Given the description of an element on the screen output the (x, y) to click on. 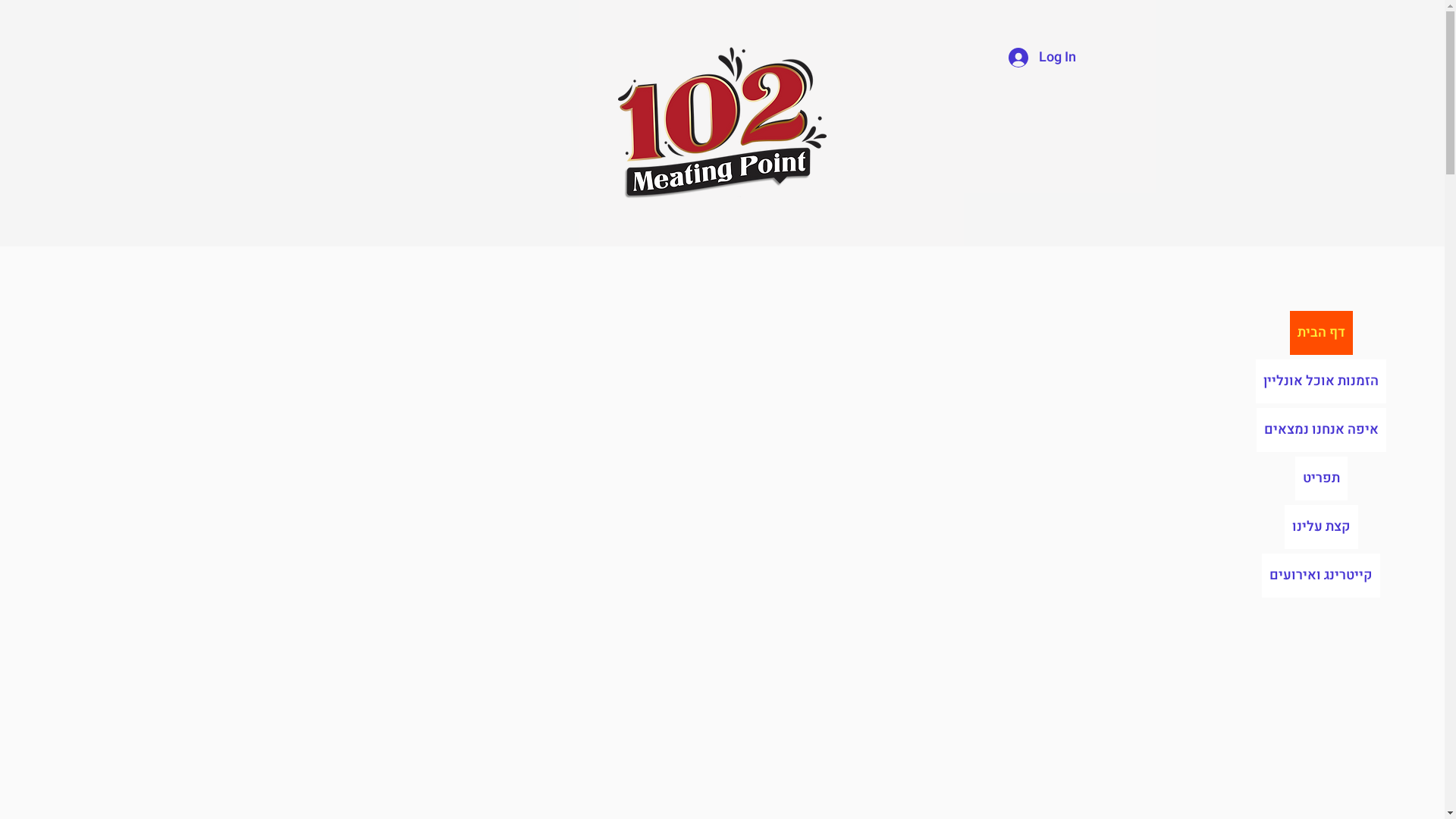
Log In Element type: text (1041, 57)
